Given the description of an element on the screen output the (x, y) to click on. 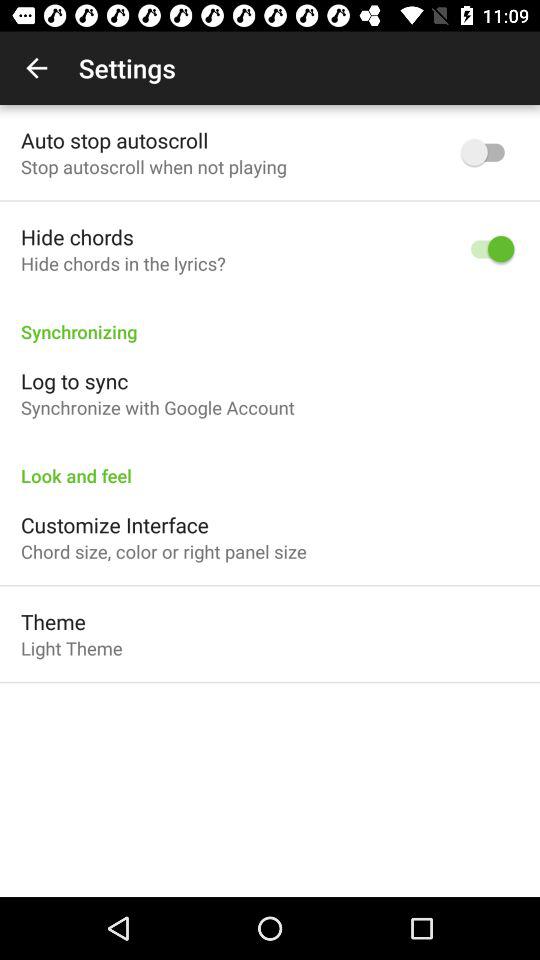
click item below the synchronize with google (270, 465)
